Given the description of an element on the screen output the (x, y) to click on. 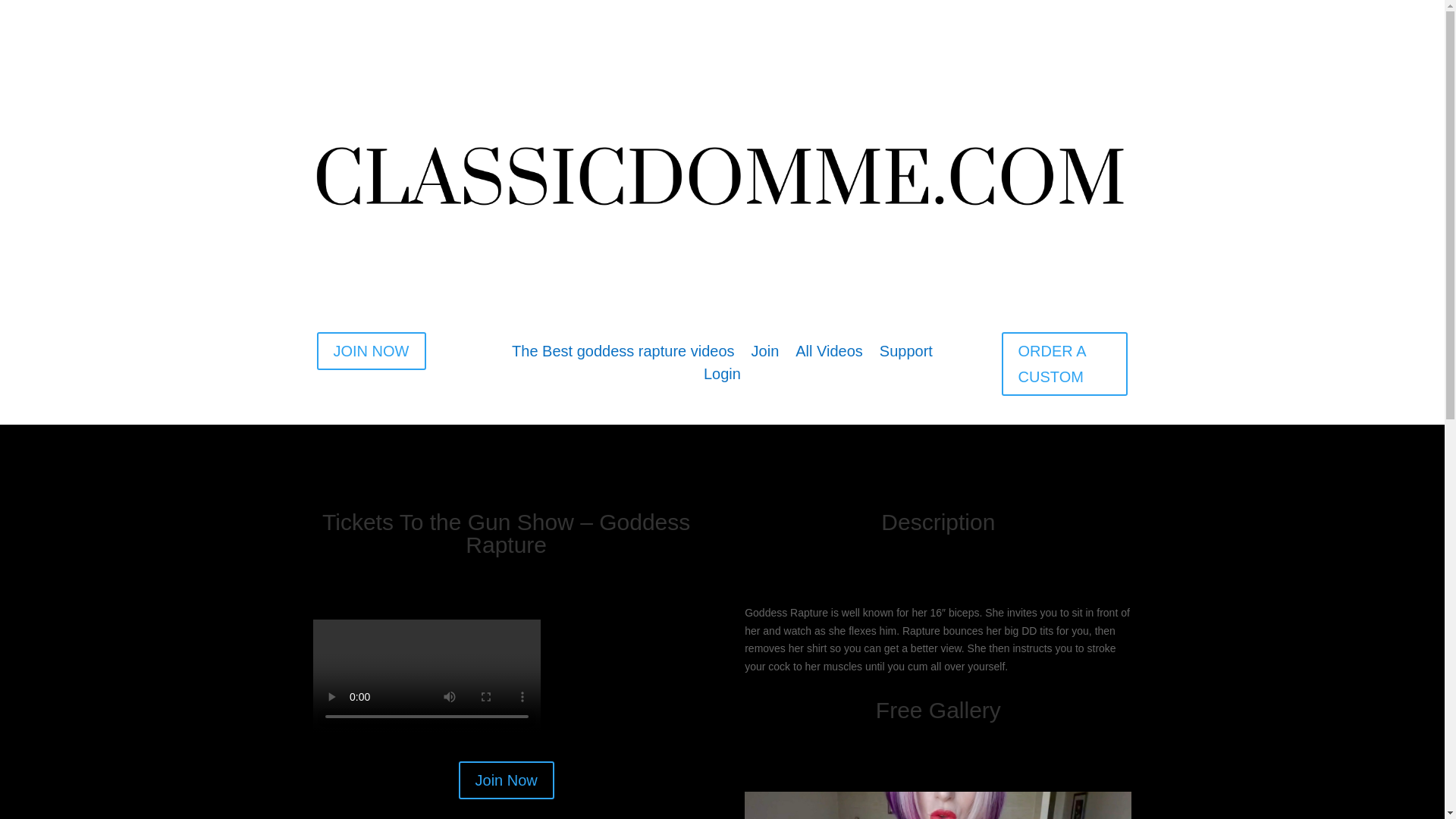
Classic Domme Logo (722, 172)
Support (906, 353)
All Videos (828, 353)
JOIN NOW (371, 351)
Join (764, 353)
Join Now (506, 780)
The Best goddess rapture videos (623, 353)
Login (722, 376)
ORDER A CUSTOM (1064, 363)
